Given the description of an element on the screen output the (x, y) to click on. 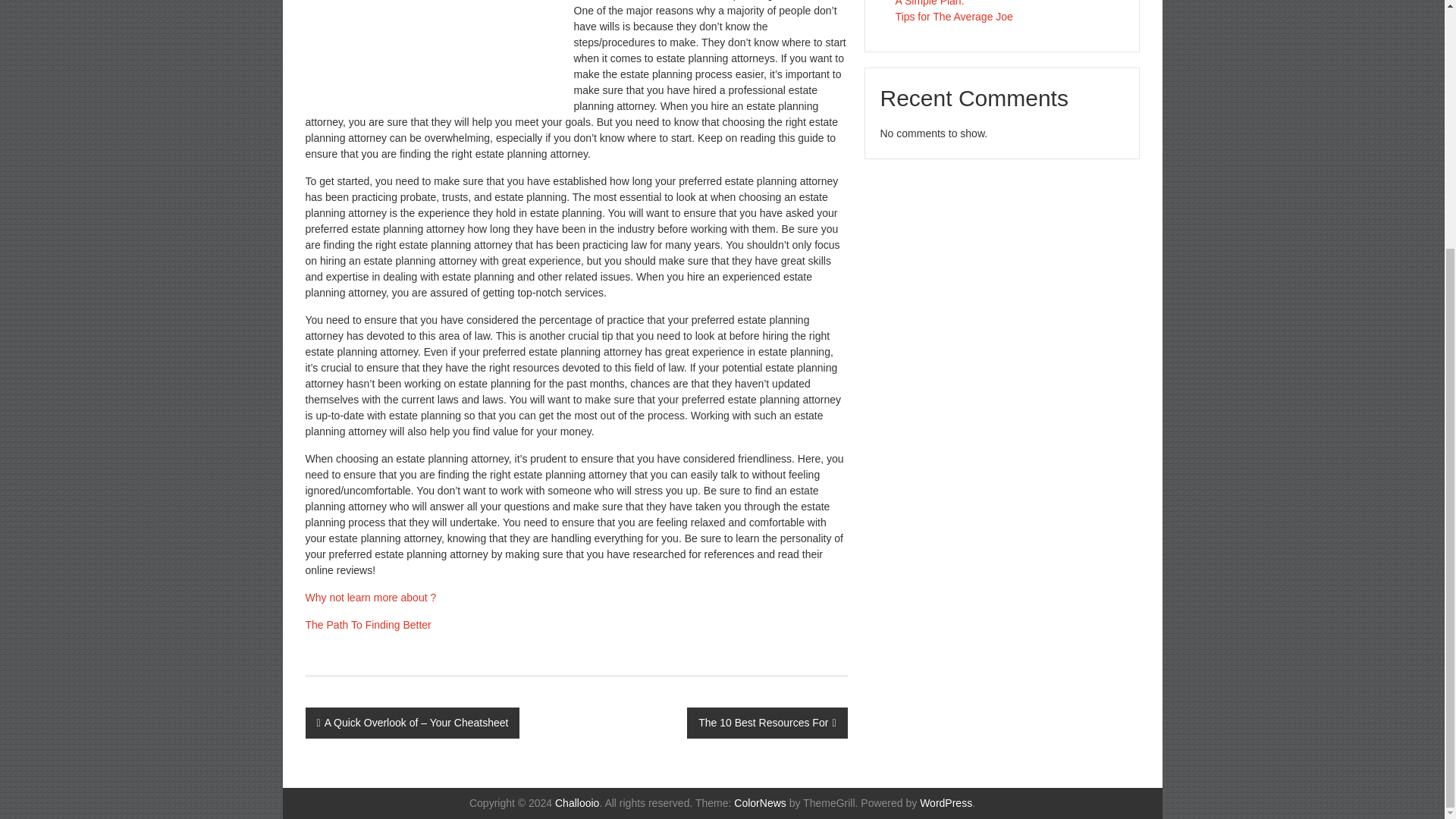
Challooio (576, 802)
Tips for The Average Joe (953, 16)
WordPress (946, 802)
Why not learn more about ? (369, 597)
ColorNews (759, 802)
WordPress (946, 802)
A Simple Plan: (929, 3)
The Path To Finding Better (367, 624)
The 10 Best Resources For (767, 722)
Challooio (576, 802)
ColorNews (759, 802)
